Given the description of an element on the screen output the (x, y) to click on. 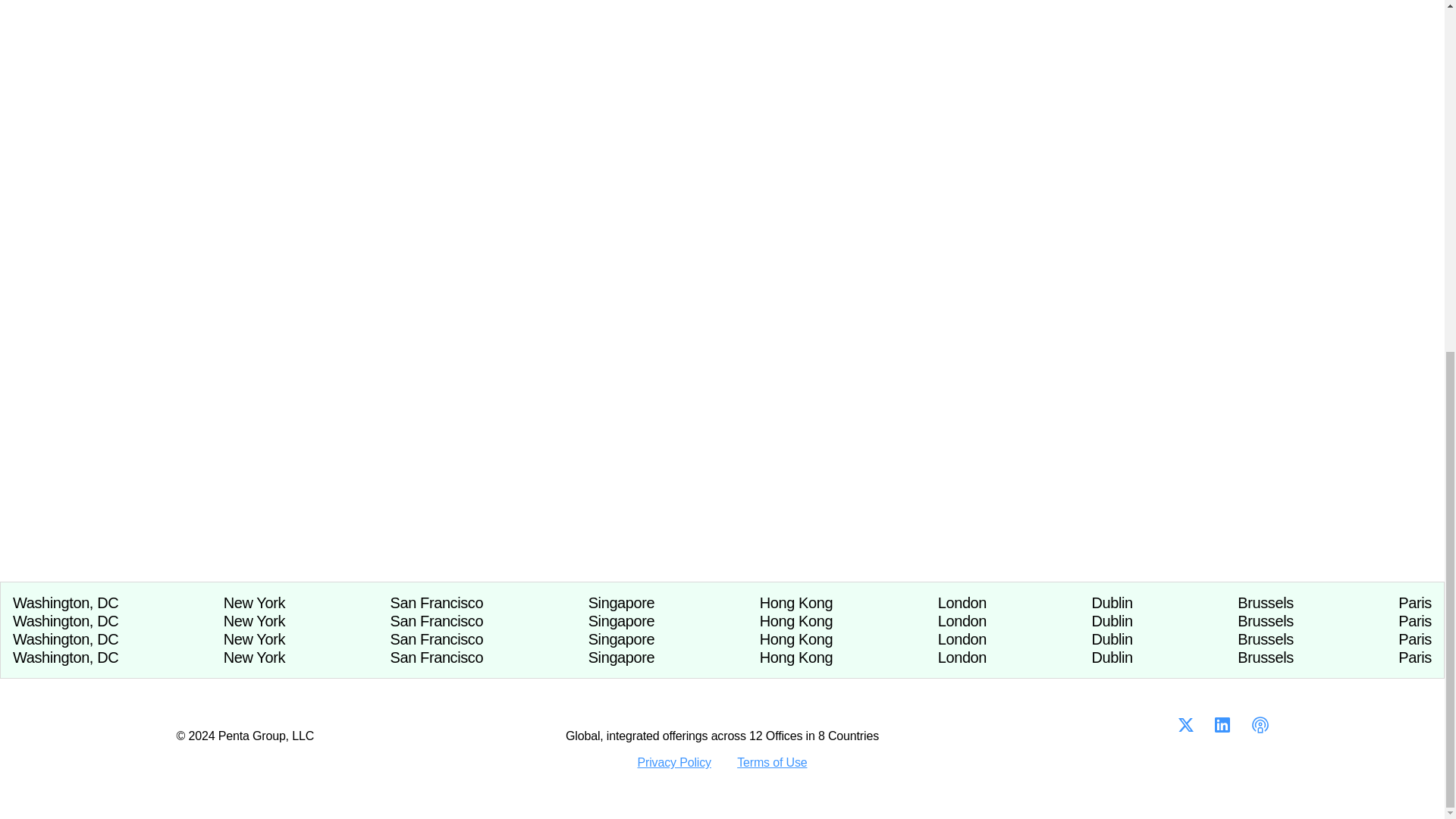
Privacy Policy (674, 762)
Terms of Use (771, 762)
